Given the description of an element on the screen output the (x, y) to click on. 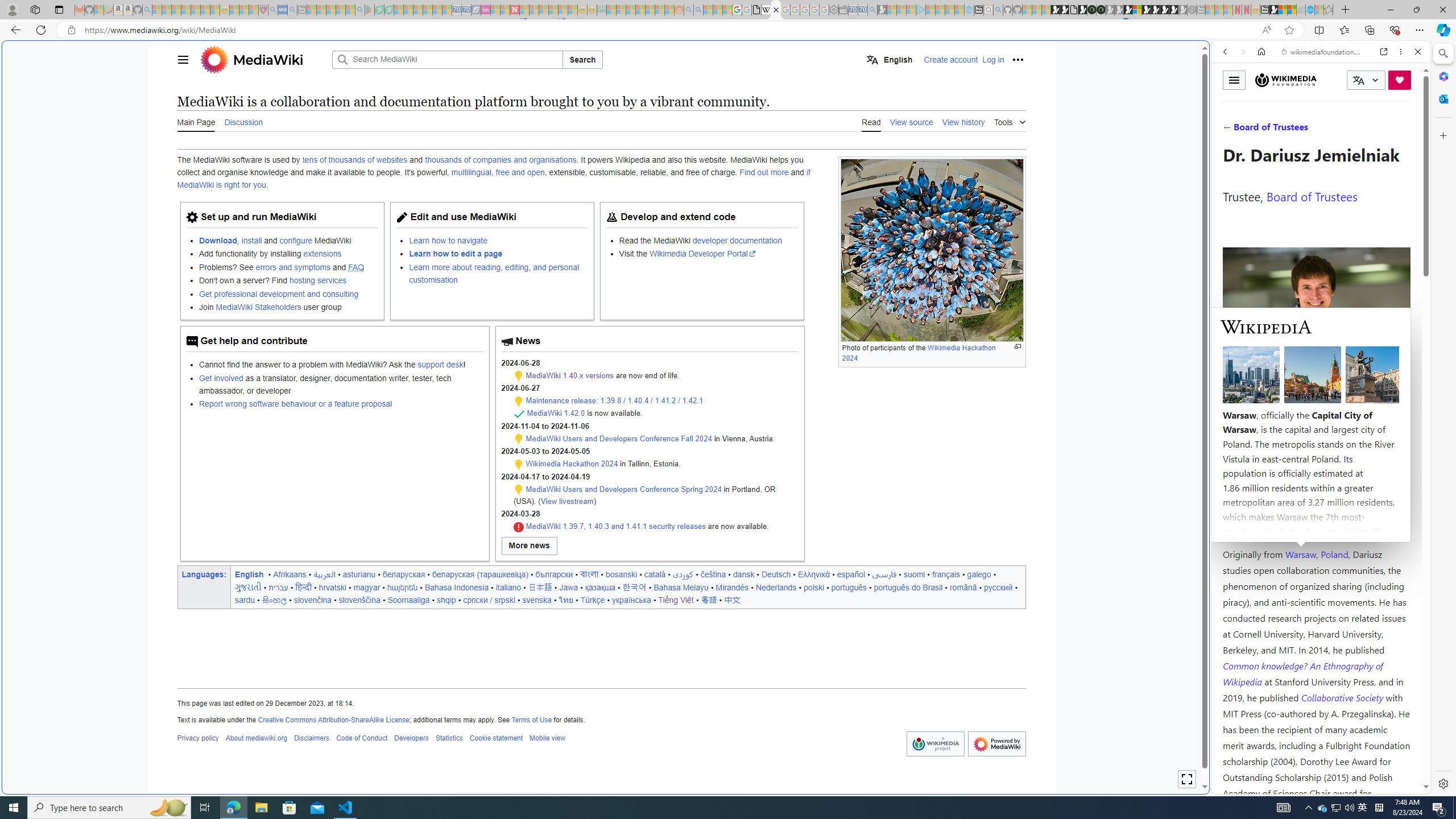
Address and search bar (669, 29)
Collaborative Society  (1343, 697)
Close Outlook pane (1442, 98)
Report wrong software behaviour or a feature proposal (295, 403)
AutomationID: footer-copyrightico (934, 744)
google_privacy_policy_zh-CN.pdf (755, 9)
suomi (914, 574)
Jobs - lastminute.com Investor Portal - Sleeping (485, 9)
Board of Trustees (1311, 195)
